Given the description of an element on the screen output the (x, y) to click on. 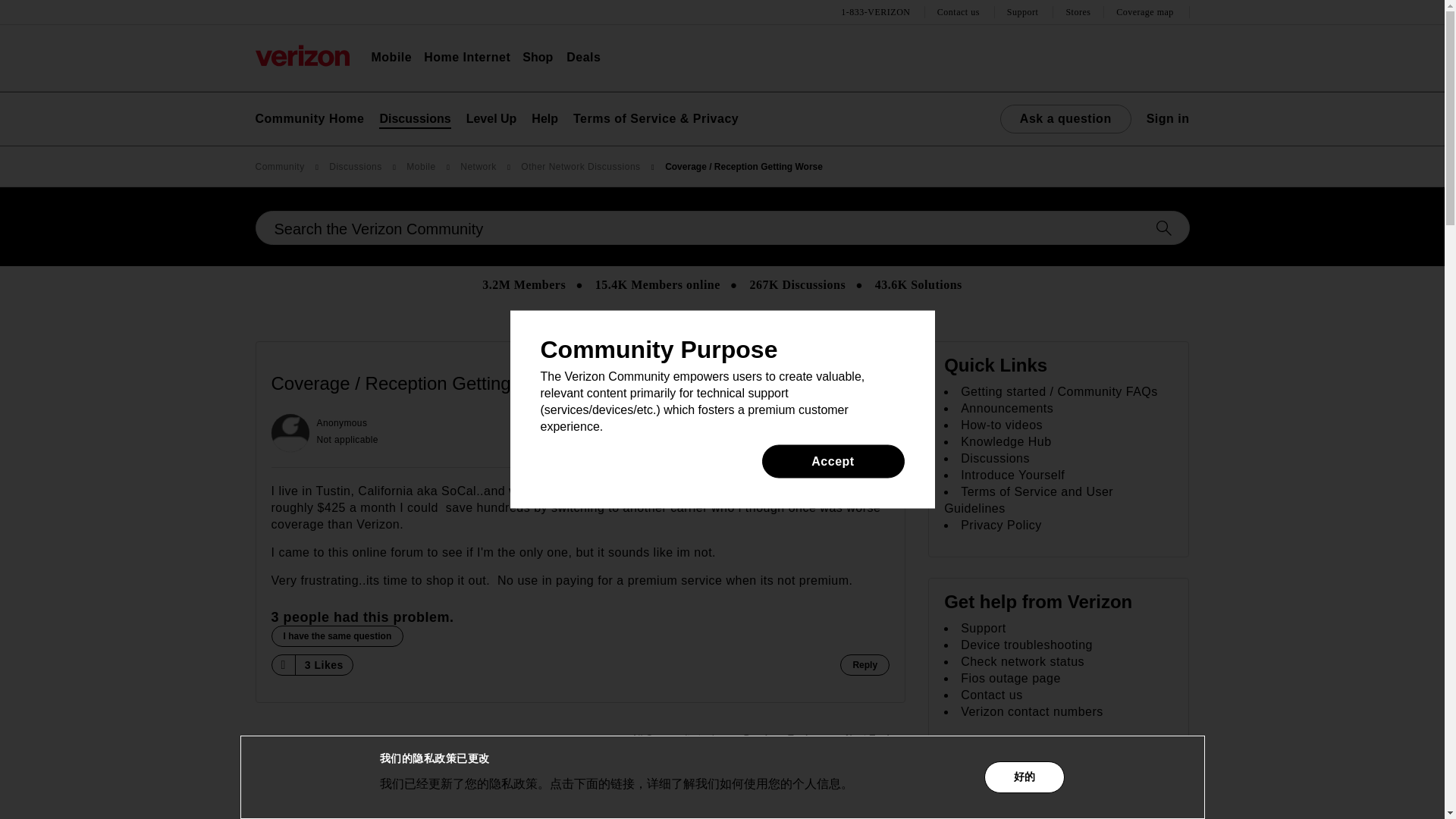
Support (1024, 12)
Search (721, 227)
1-833-VERIZON (876, 12)
Mobile (391, 57)
Home Internet (467, 57)
Click here to give likes to this post. (282, 664)
Show option menu (874, 383)
Verizon calls drop when calling a Skype number (773, 738)
Shop (537, 57)
How can I turn off  International calls on my phone from USA (874, 738)
